Given the description of an element on the screen output the (x, y) to click on. 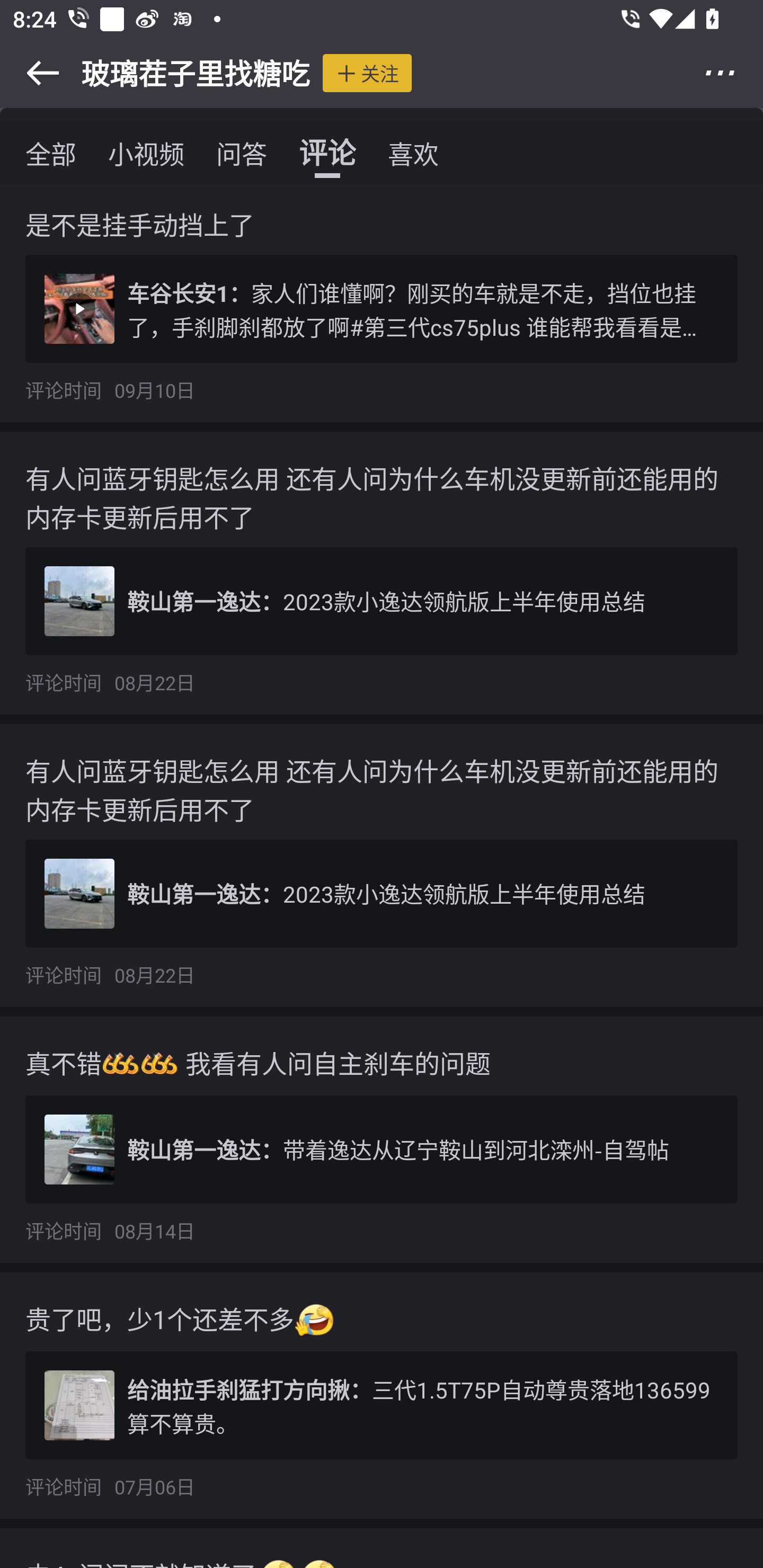
 (30, 72)
 (732, 72)
 关注 (367, 72)
全部 (50, 152)
小视频 (146, 152)
问答 (241, 152)
评论 (327, 152)
喜欢 (412, 152)
